Given the description of an element on the screen output the (x, y) to click on. 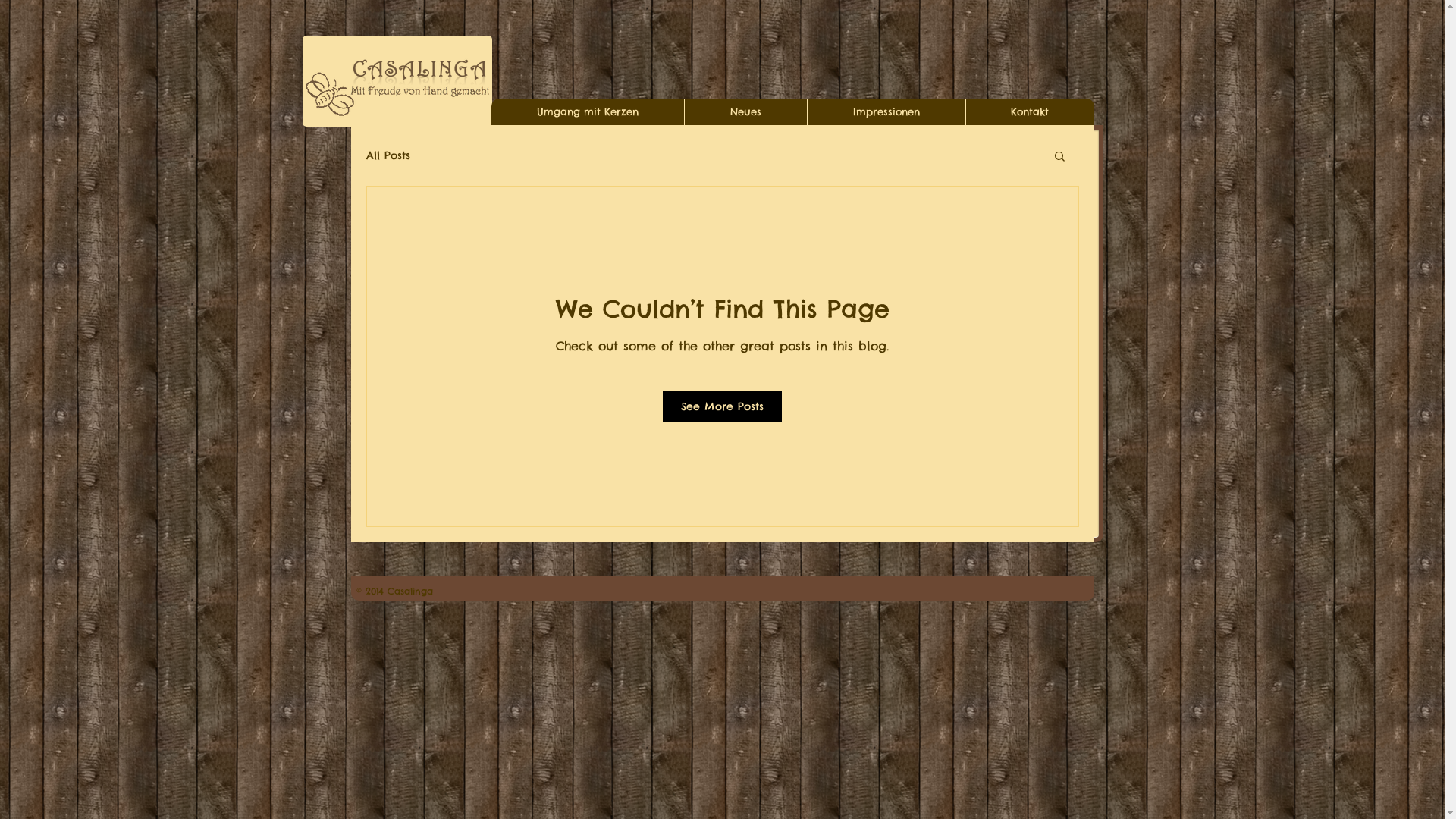
Casalinga - mit Freude von Hand gemacht Element type: hover (396, 80)
Impressionen Element type: text (885, 111)
See More Posts Element type: text (721, 406)
Neues Element type: text (745, 111)
Kontakt Element type: text (1028, 111)
All Posts Element type: text (387, 155)
Umgang mit Kerzen Element type: text (587, 111)
